Given the description of an element on the screen output the (x, y) to click on. 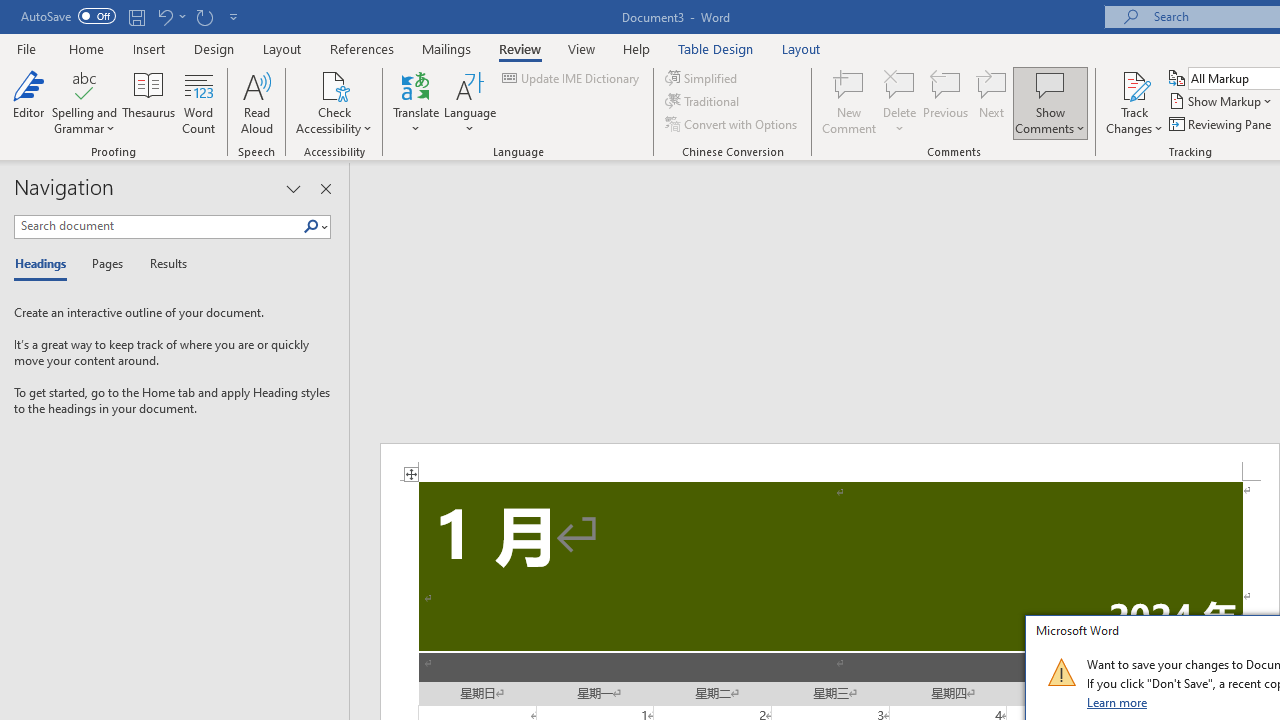
New Comment (849, 102)
Language (470, 102)
Check Accessibility (334, 84)
Show Comments (1050, 84)
Spelling and Grammar (84, 84)
